Given the description of an element on the screen output the (x, y) to click on. 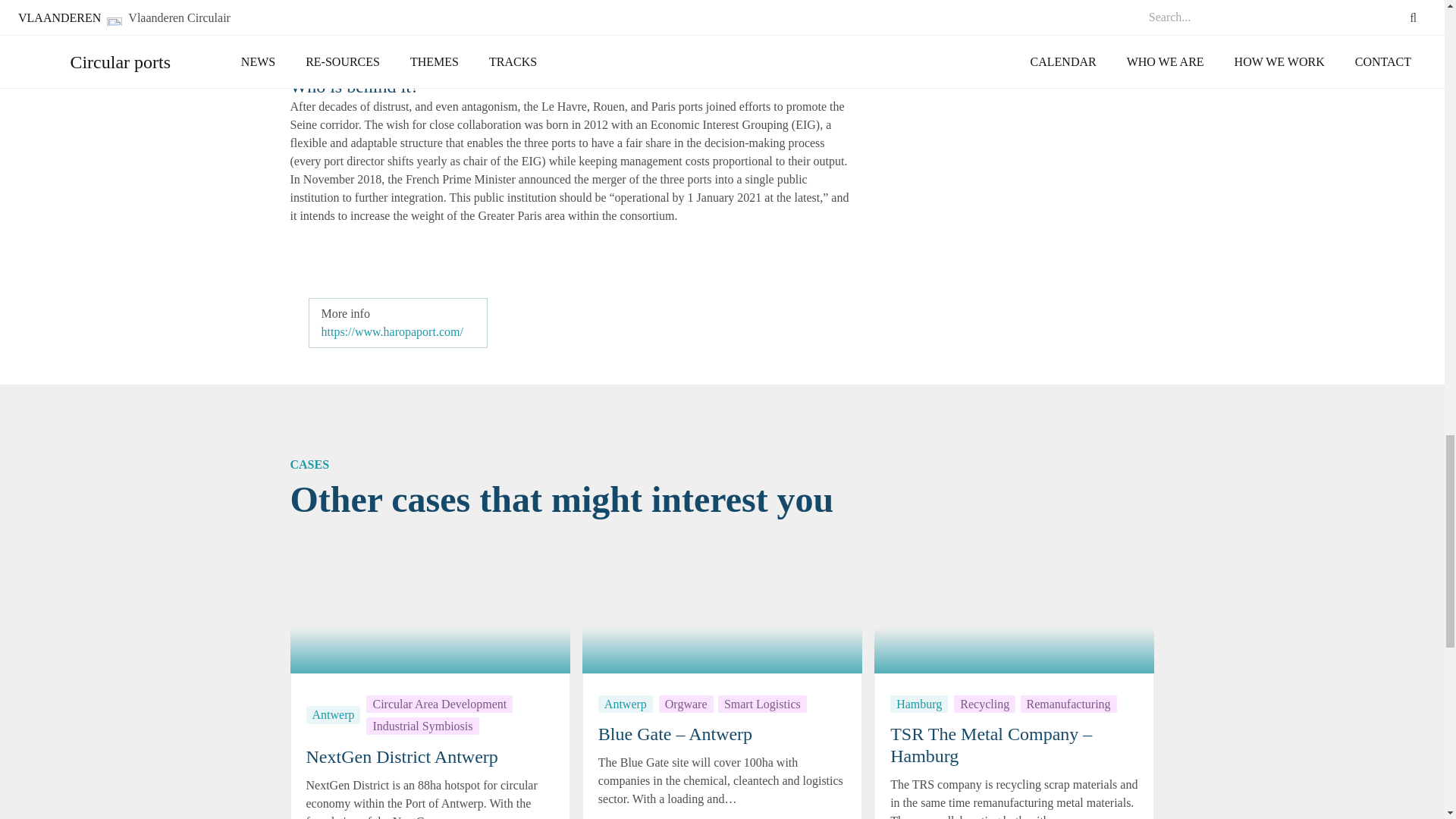
Antwerp (333, 714)
Industrial Symbiosis (422, 725)
Circular Area Development (439, 703)
